Given the description of an element on the screen output the (x, y) to click on. 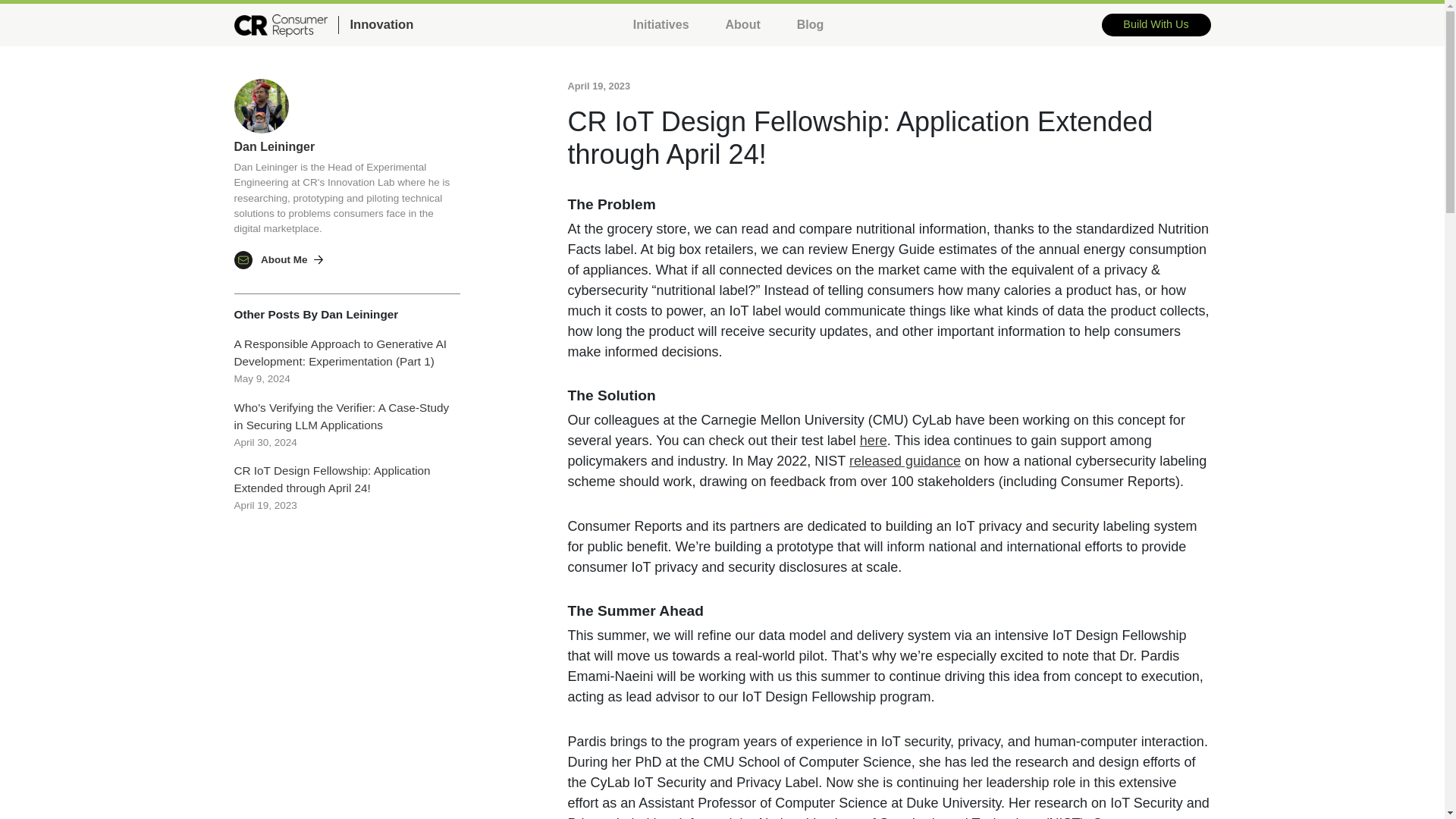
Initiatives (661, 24)
released guidance (904, 460)
Dan Leininger (273, 146)
Blog (809, 24)
Innovation at Consumer Reports (375, 25)
About (743, 24)
Build With Us (1156, 24)
About Me (290, 259)
Consumer Reports (279, 25)
